Given the description of an element on the screen output the (x, y) to click on. 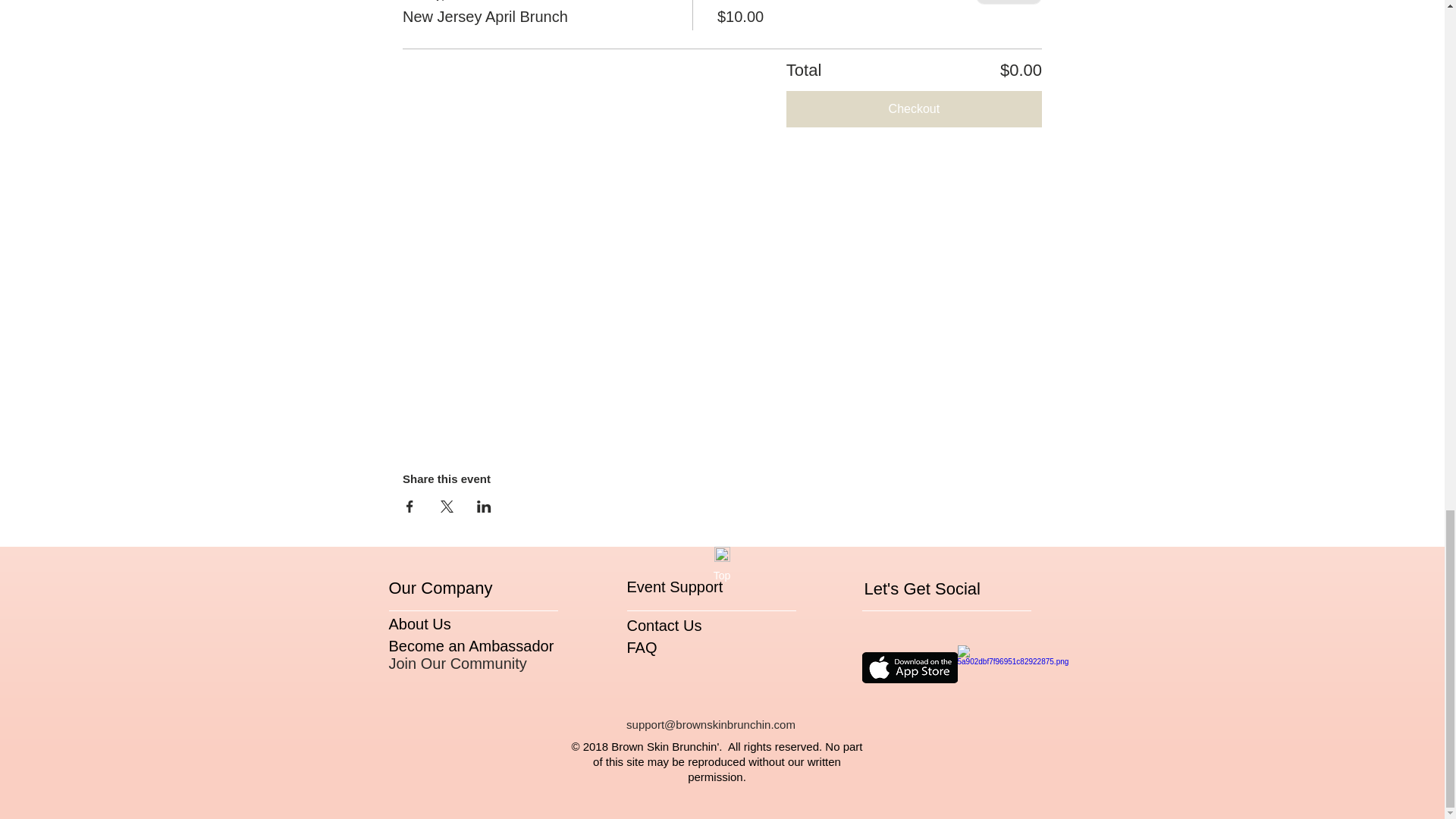
Top (721, 575)
Contact Us (663, 625)
About Us (418, 623)
Become an Ambassador (470, 646)
Checkout (914, 108)
Join Our Community (456, 663)
FAQ (641, 647)
